Given the description of an element on the screen output the (x, y) to click on. 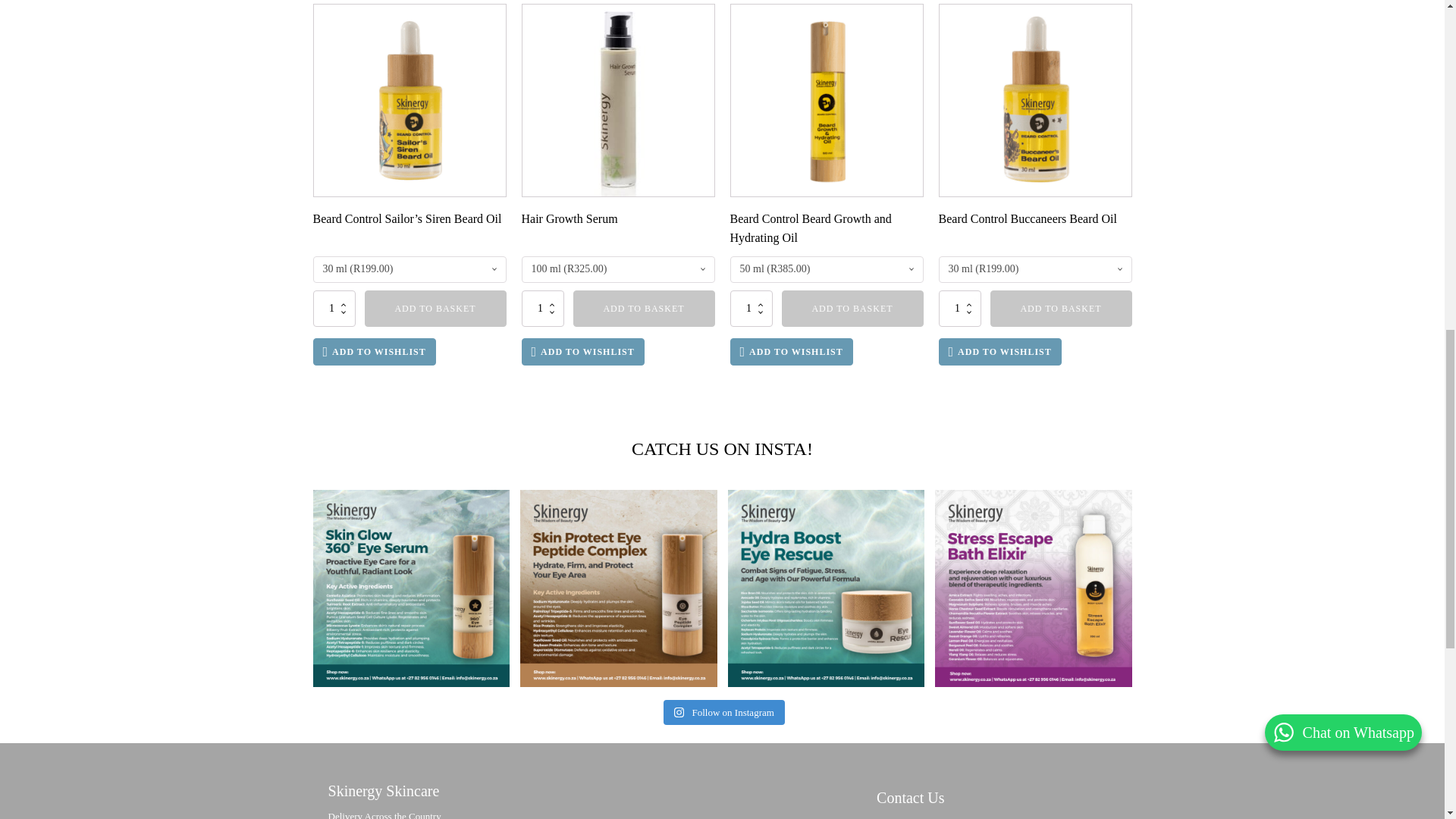
1 (960, 308)
1 (542, 308)
1 (750, 308)
1 (334, 308)
